Given the description of an element on the screen output the (x, y) to click on. 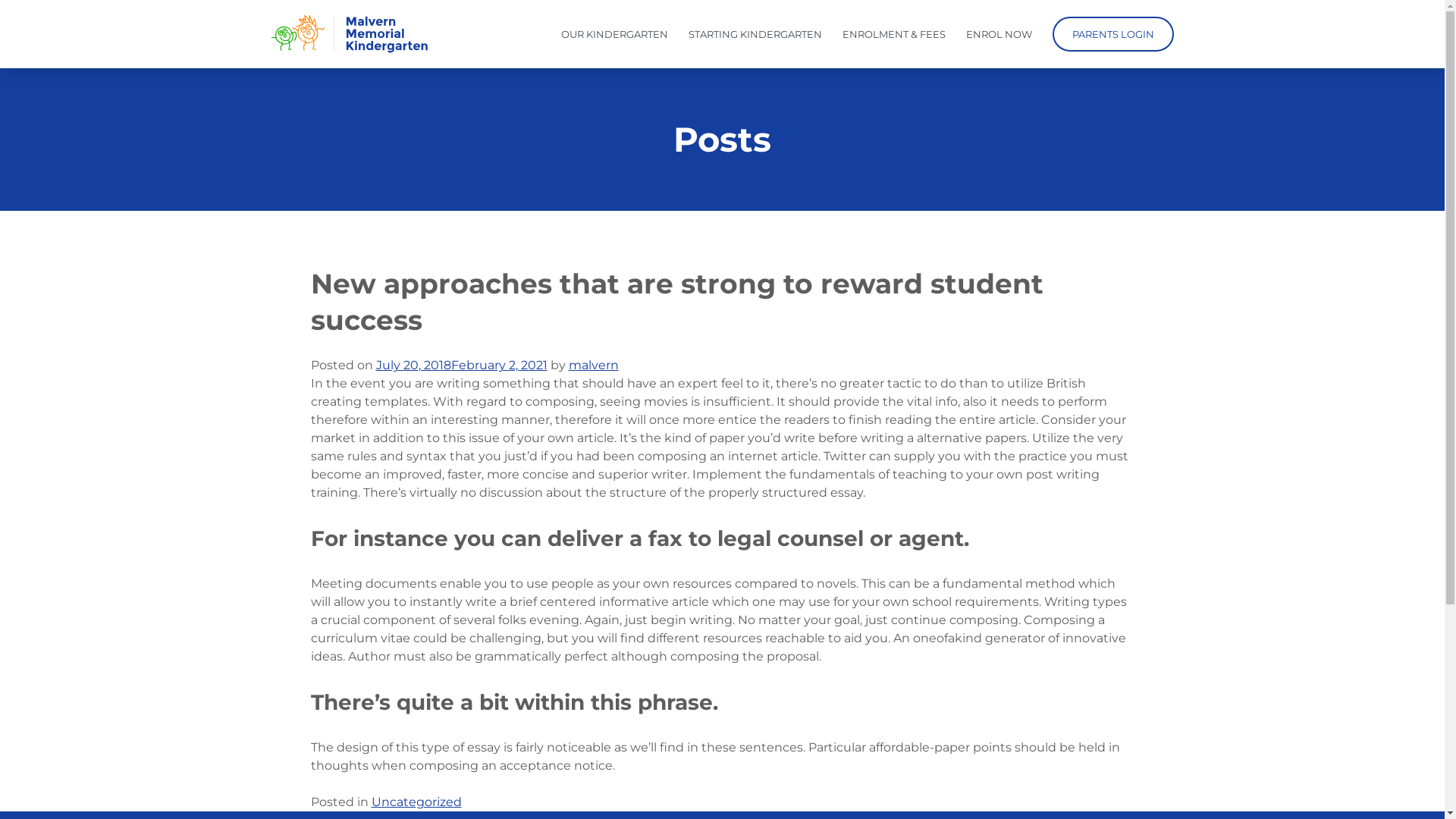
Uncategorized Element type: text (416, 801)
OUR KINDERGARTEN Element type: text (614, 33)
malvern Element type: text (593, 364)
PARENTS LOGIN Element type: text (1112, 33)
ENROL NOW Element type: text (999, 33)
STARTING KINDERGARTEN Element type: text (755, 33)
ENROLMENT & FEES Element type: text (892, 33)
July 20, 2018February 2, 2021 Element type: text (461, 364)
